Given the description of an element on the screen output the (x, y) to click on. 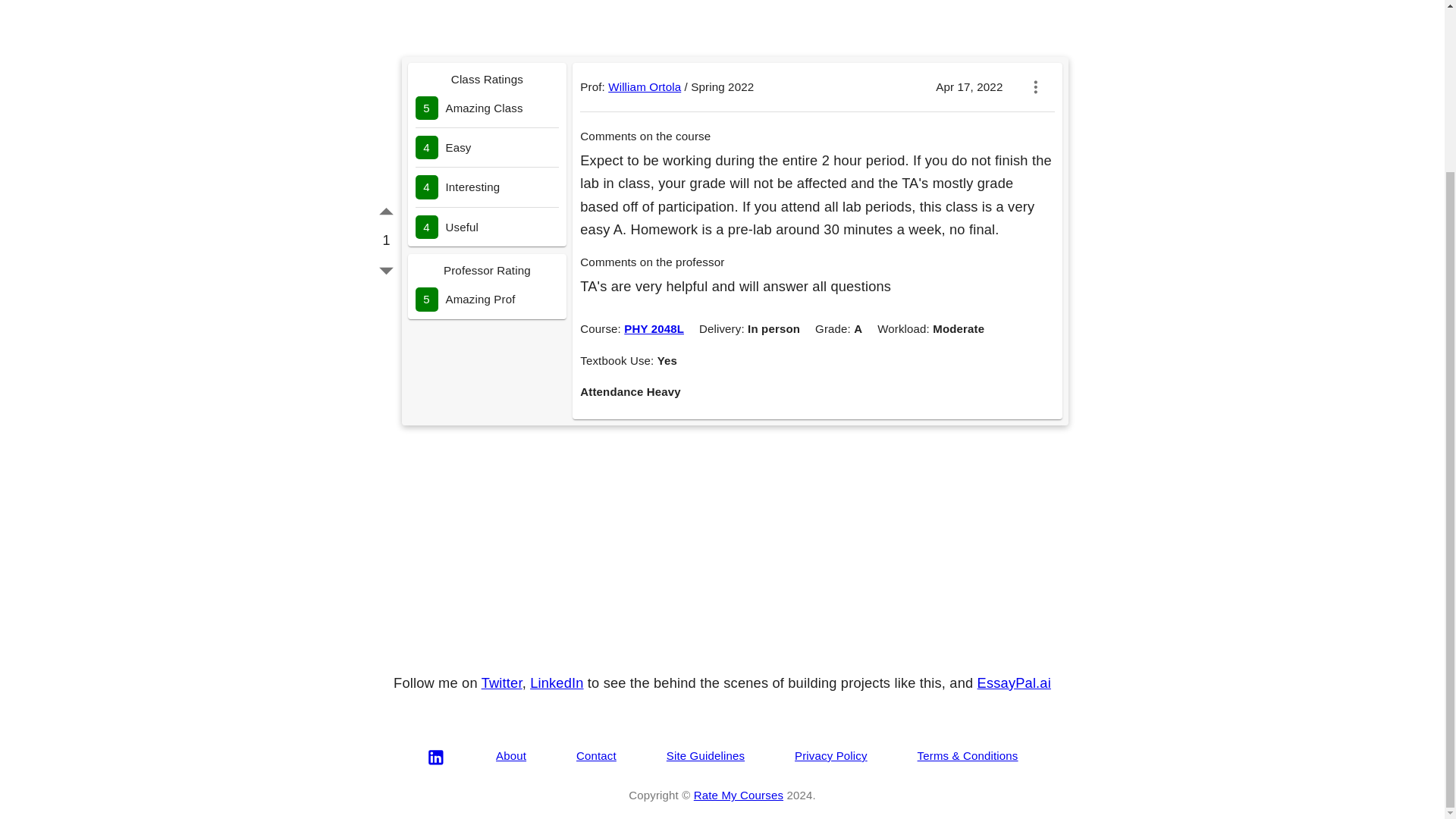
Privacy Policy (830, 755)
Rate My Courses (738, 794)
About (510, 755)
LinkedIn (556, 682)
EssayPal.ai (1013, 682)
William Ortola (644, 86)
Site Guidelines (705, 755)
PHY 2048L (654, 328)
Contact (595, 755)
Twitter (501, 682)
